Given the description of an element on the screen output the (x, y) to click on. 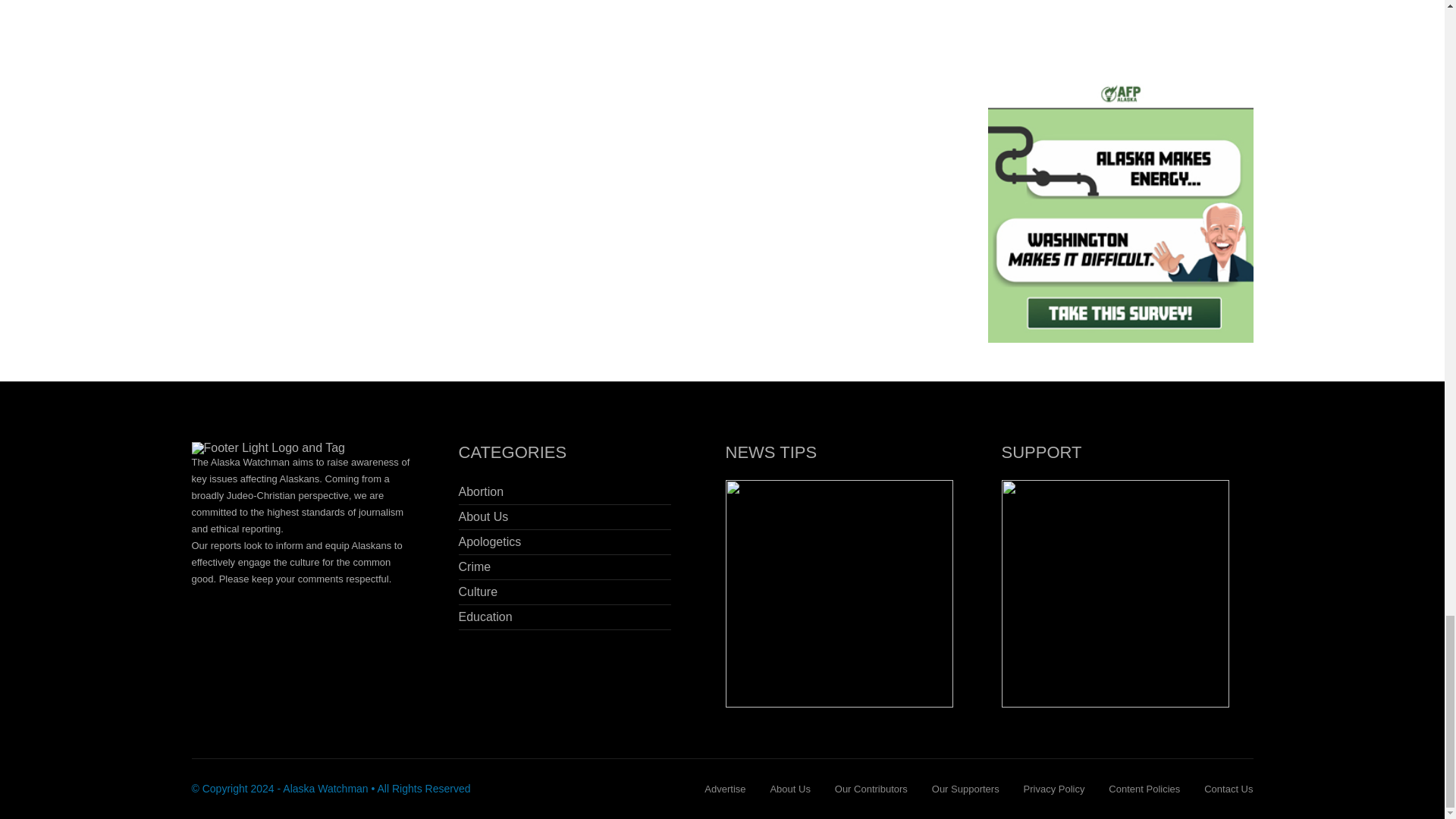
Footer Light Logo and Tag (267, 448)
